Given the description of an element on the screen output the (x, y) to click on. 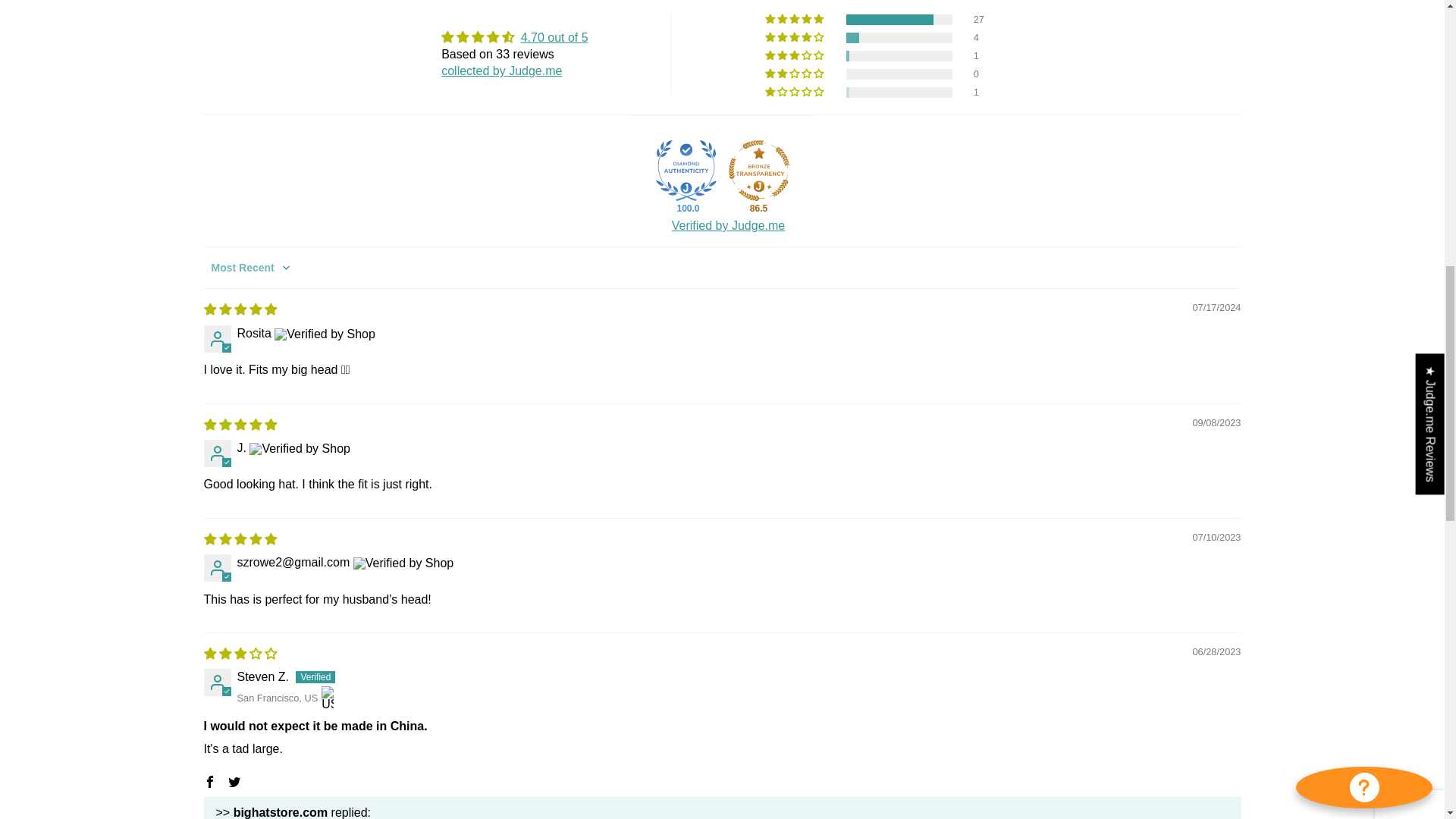
Facebook (208, 781)
Twitter (233, 781)
